Given the description of an element on the screen output the (x, y) to click on. 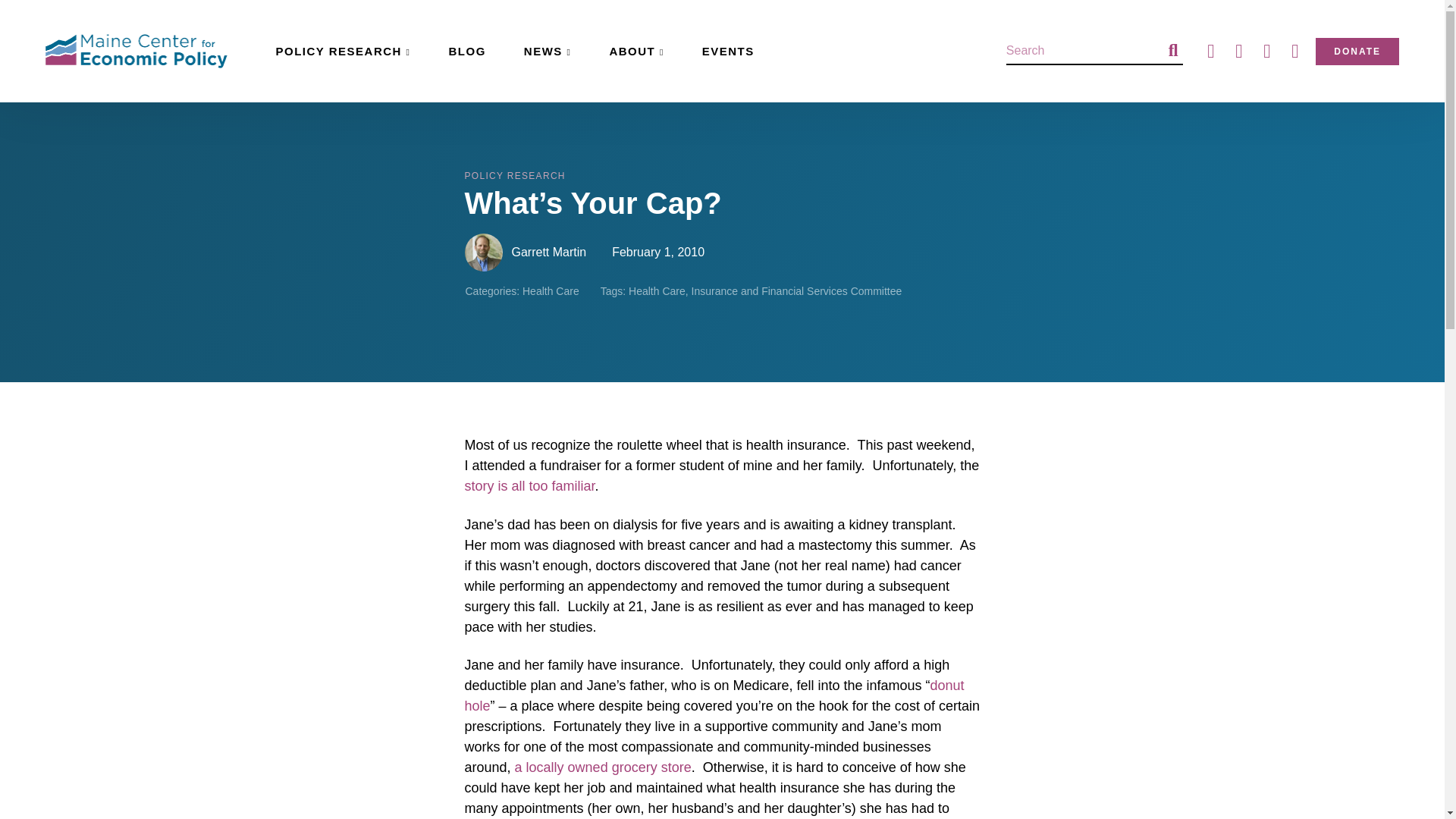
Begging for Change (529, 485)
Donut hole defined (713, 695)
NEWS (548, 51)
ABOUT (635, 51)
EVENTS (727, 51)
Yellowfront Grocery (603, 767)
BLOG (466, 51)
POLICY RESEARCH (342, 51)
DONATE (1357, 51)
